Given the description of an element on the screen output the (x, y) to click on. 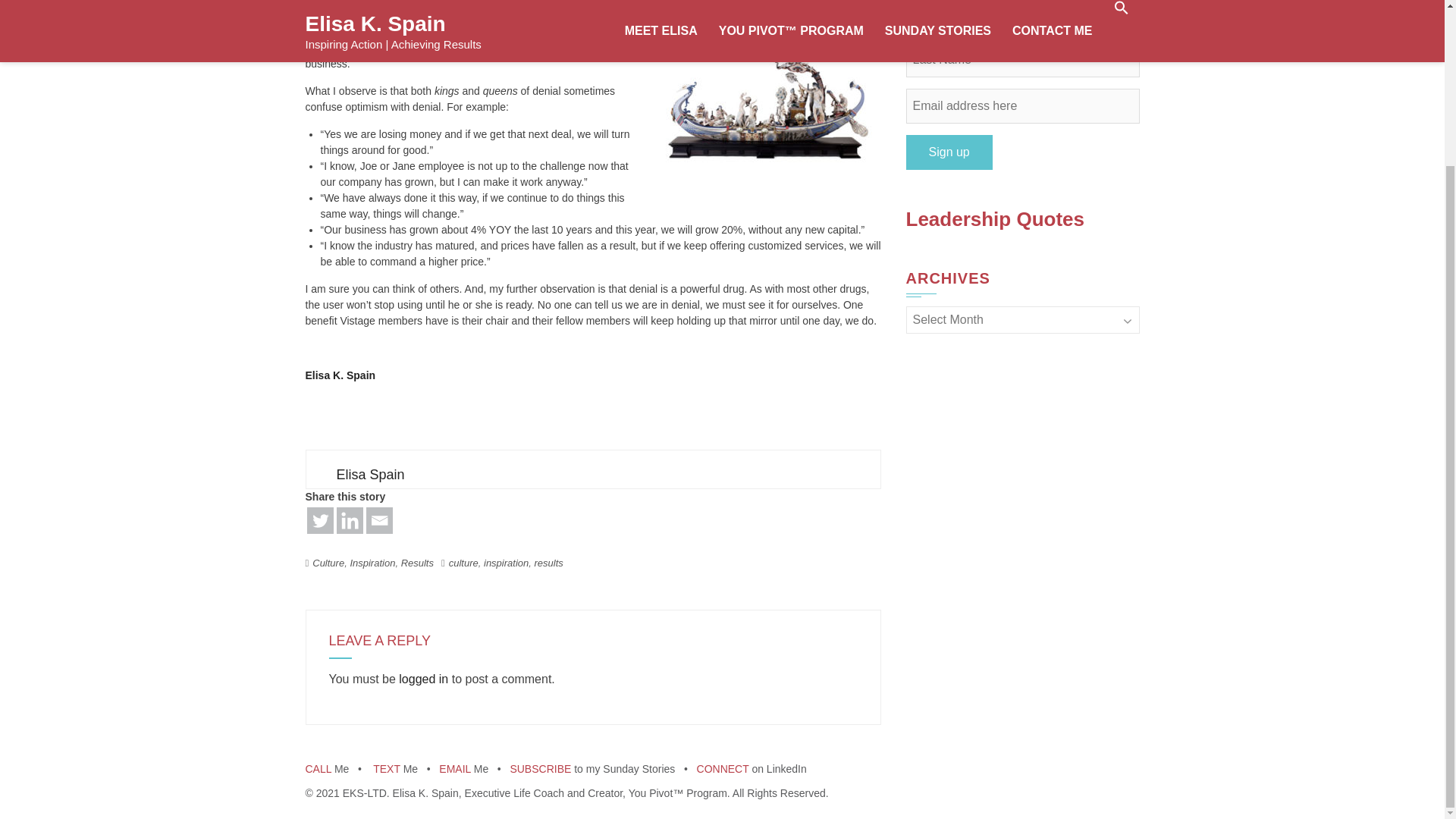
Inspiration (371, 562)
inspiration (505, 562)
Results (417, 562)
Email (378, 519)
Sign up (948, 152)
results (548, 562)
logged in (423, 678)
culture (463, 562)
Biography (339, 375)
Linkedin (349, 519)
Elisa K. Spain (339, 375)
Sign up (948, 152)
Twitter (319, 519)
Culture (328, 562)
Elisa Spain (370, 474)
